Given the description of an element on the screen output the (x, y) to click on. 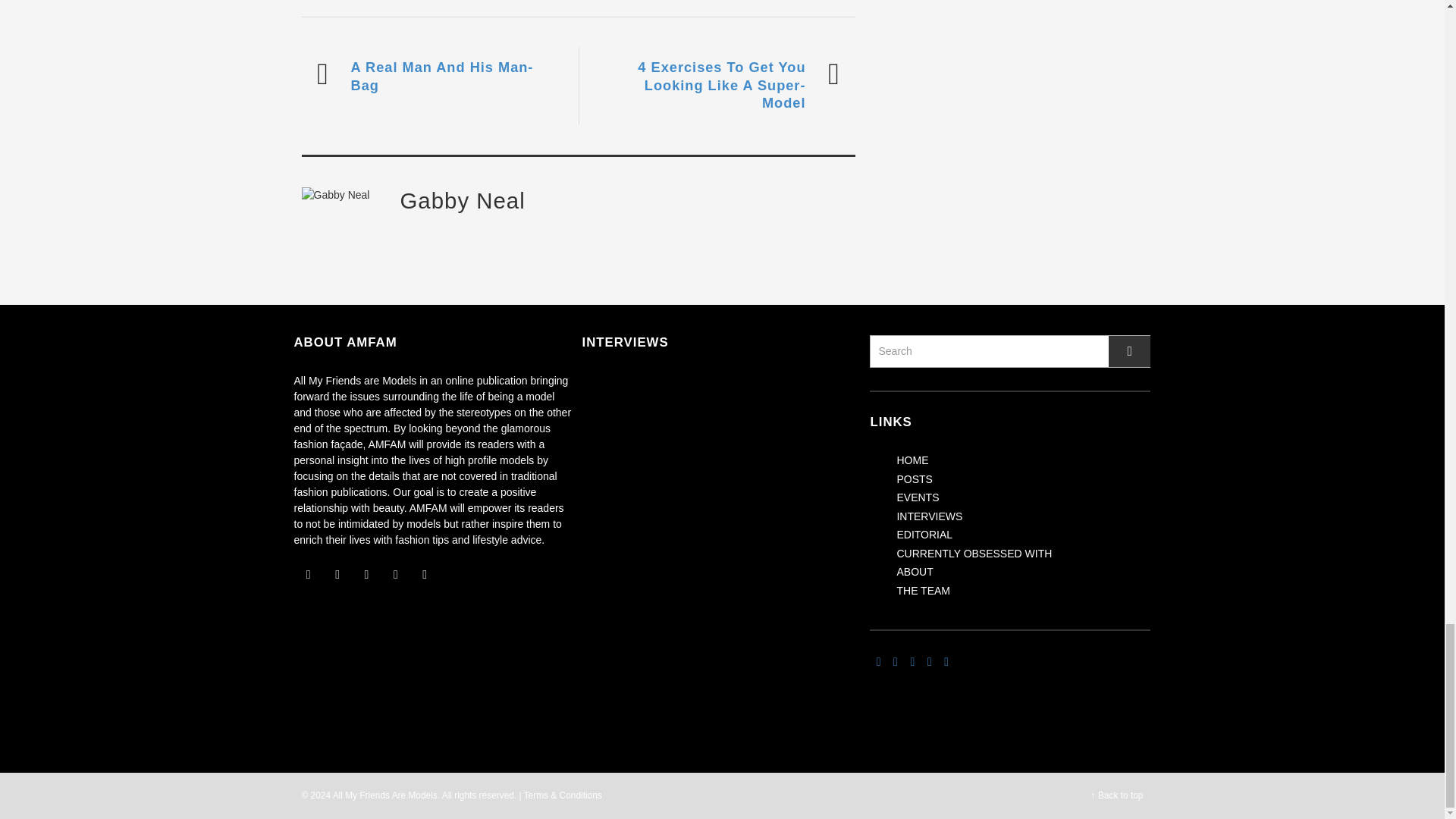
Search (1009, 350)
